Given the description of an element on the screen output the (x, y) to click on. 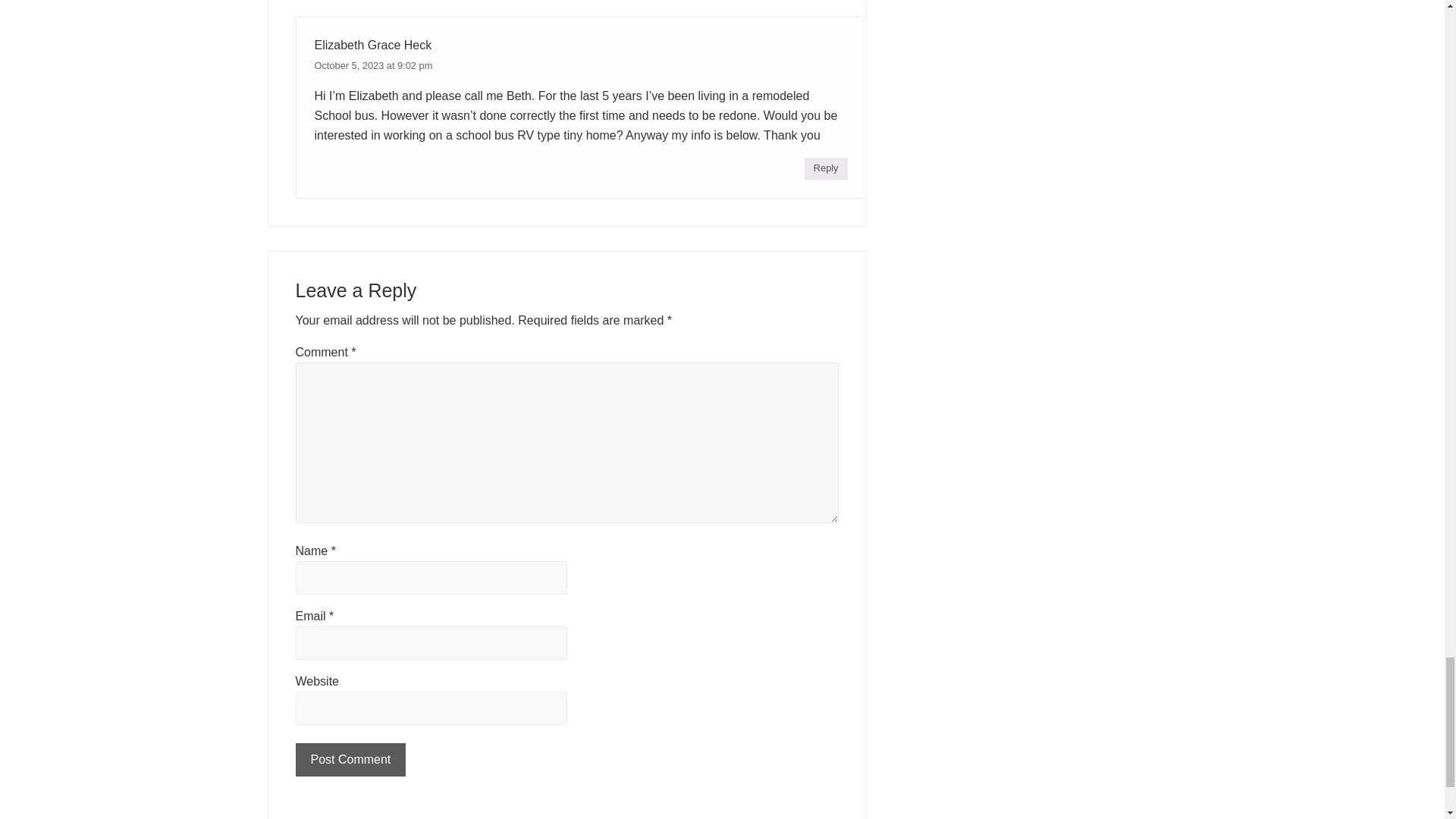
Post Comment (350, 759)
Post Comment (350, 759)
Reply (826, 168)
October 5, 2023 at 9:02 pm (373, 65)
